Given the description of an element on the screen output the (x, y) to click on. 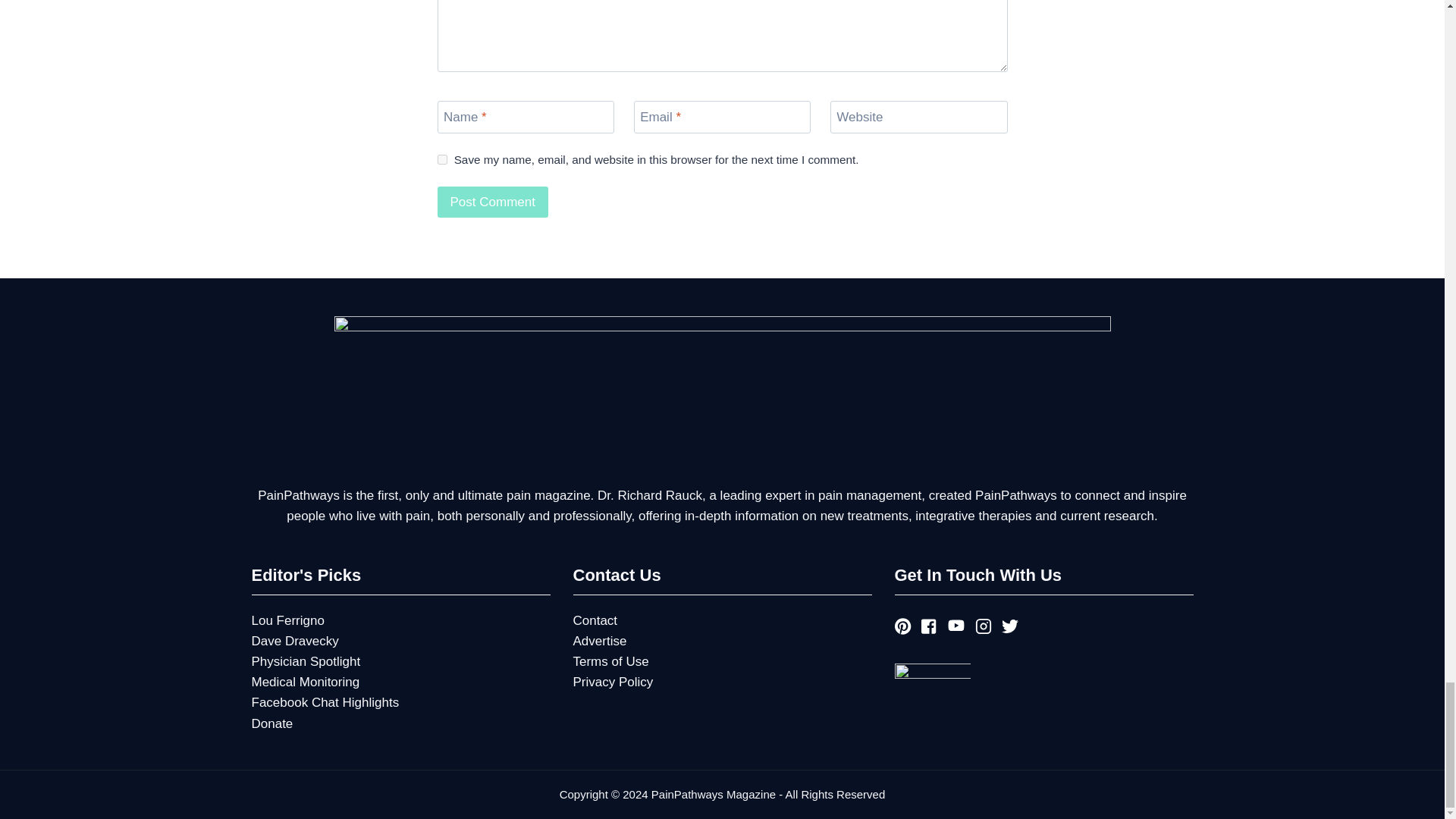
yes (441, 159)
Post Comment (491, 201)
